Given the description of an element on the screen output the (x, y) to click on. 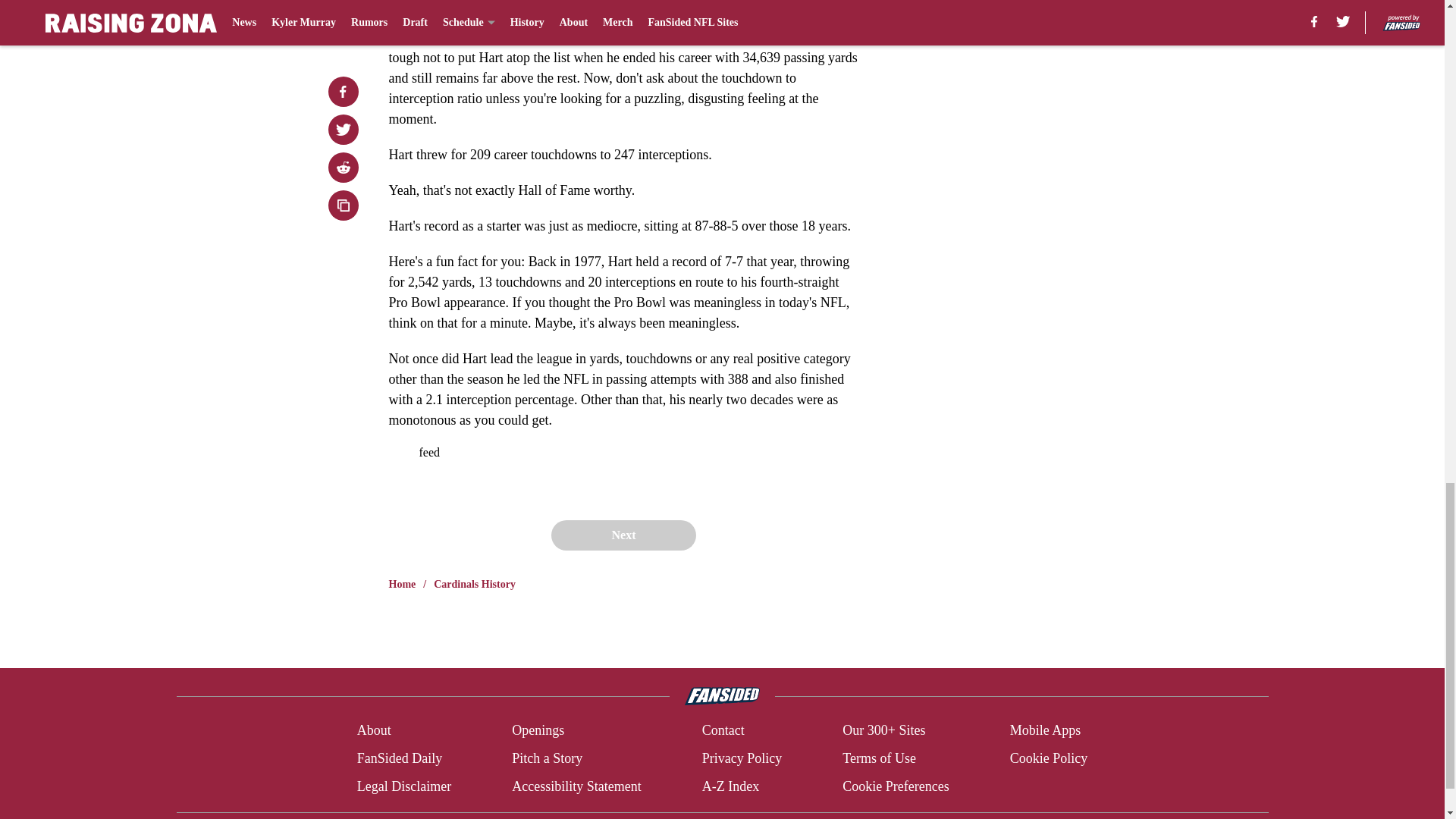
About (373, 730)
Cardinals History (474, 584)
A-Z Index (729, 786)
Legal Disclaimer (403, 786)
Home (401, 584)
Contact (722, 730)
FanSided Daily (399, 758)
Mobile Apps (1045, 730)
Pitch a Story (547, 758)
Openings (538, 730)
